Given the description of an element on the screen output the (x, y) to click on. 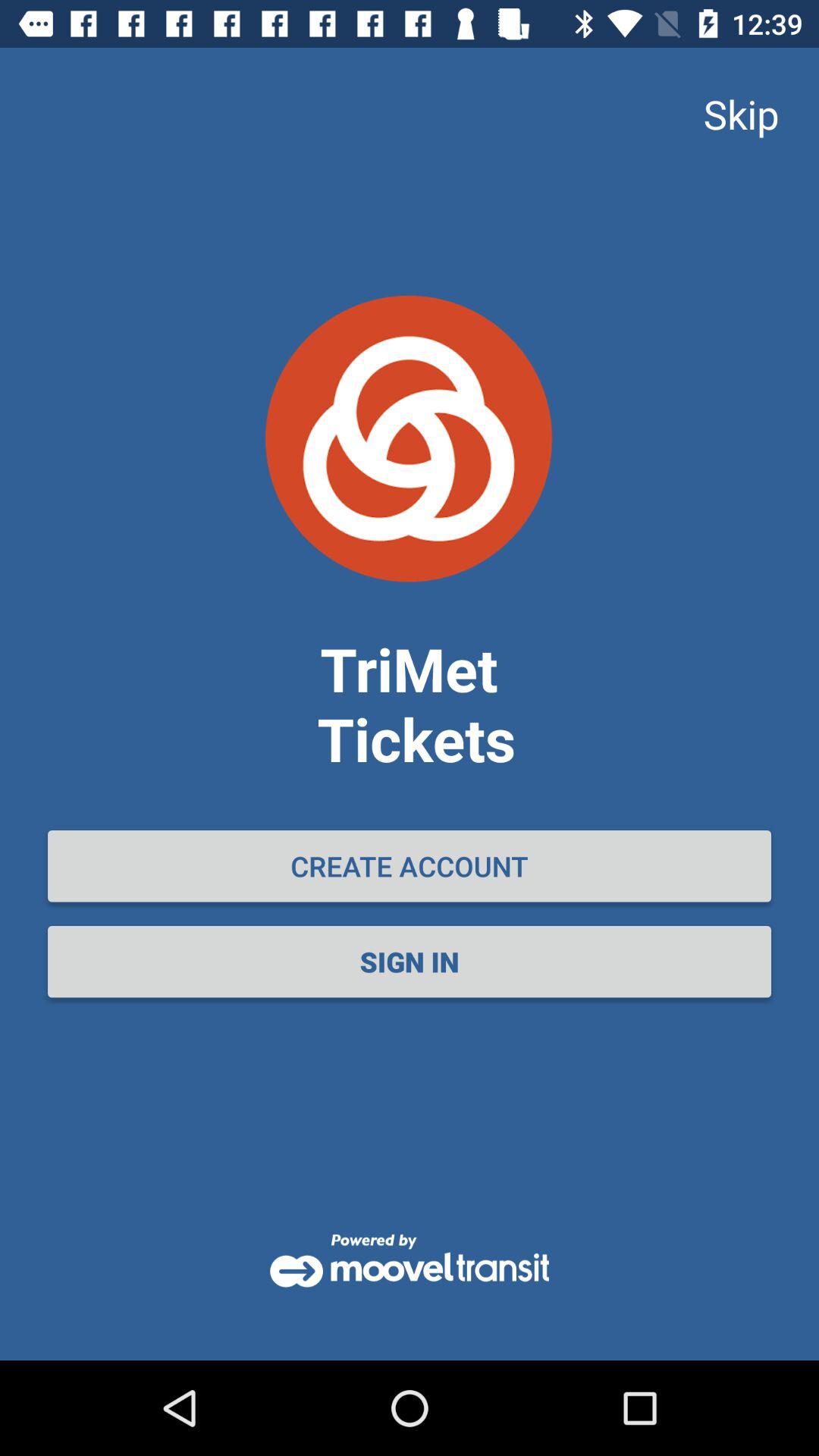
choose the sign in item (409, 961)
